Given the description of an element on the screen output the (x, y) to click on. 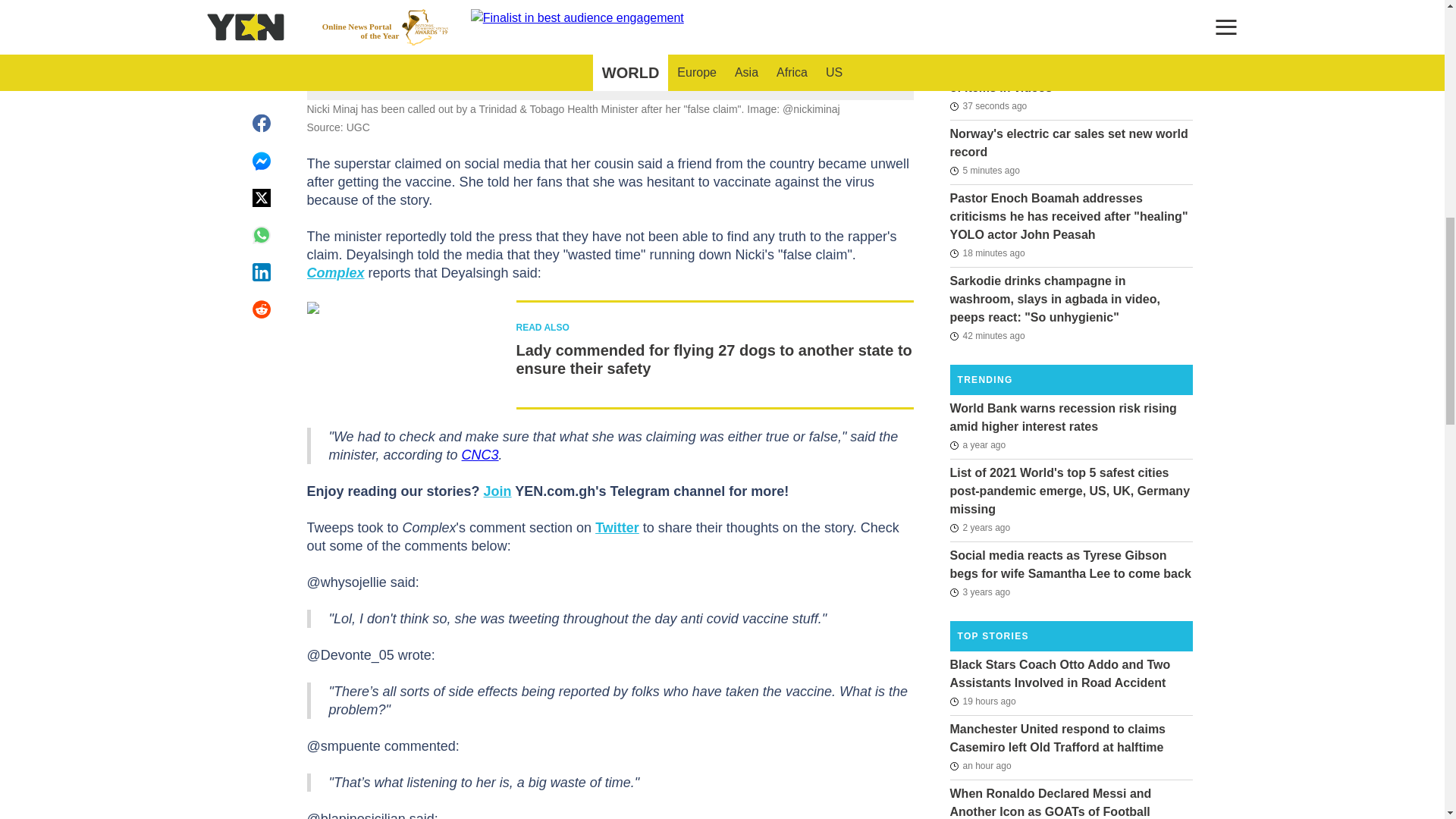
2024-09-02T09:58:29Z (1001, 13)
2021-10-11T11:24:35Z (979, 527)
2024-09-01T15:02:55Z (981, 701)
2024-09-02T10:40:46Z (987, 106)
2024-09-02T10:36:03Z (984, 170)
2024-09-02T09:58:29Z (987, 335)
2024-09-02T10:23:22Z (987, 253)
2022-09-15T17:52:07Z (977, 444)
2021-01-26T18:32:56Z (979, 592)
2024-09-02T09:19:30Z (979, 765)
